Given the description of an element on the screen output the (x, y) to click on. 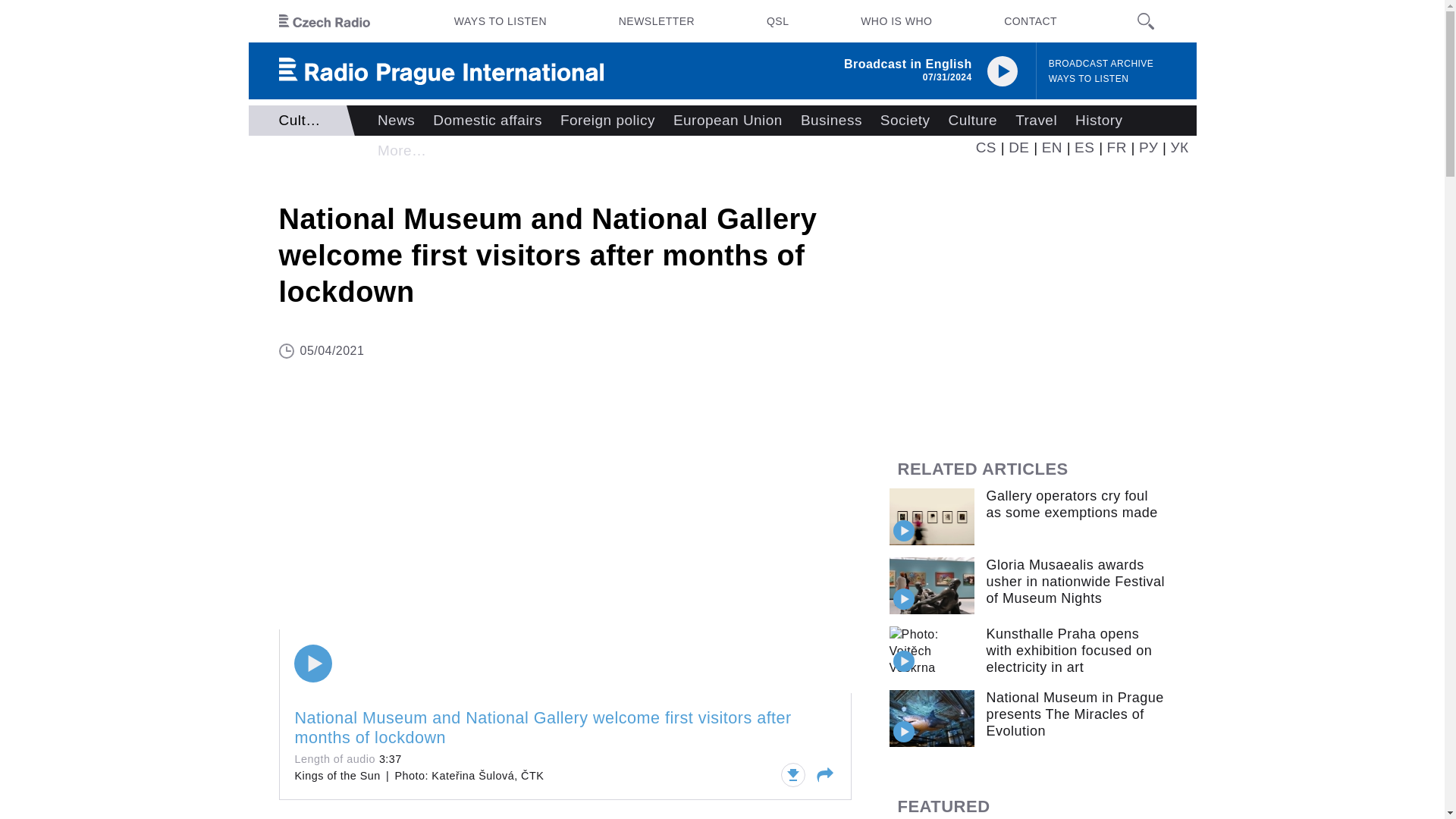
WAYS TO LISTEN (1088, 78)
History (1098, 120)
ES (1084, 147)
BROADCAST ARCHIVE (1101, 63)
Business (831, 120)
EN (1052, 147)
News (395, 120)
DE (1019, 147)
Broadcast in English  (908, 63)
QSL (777, 21)
CS (985, 147)
Travel (1035, 120)
Society (904, 120)
CONTACT (1029, 21)
European Union (727, 120)
